Given the description of an element on the screen output the (x, y) to click on. 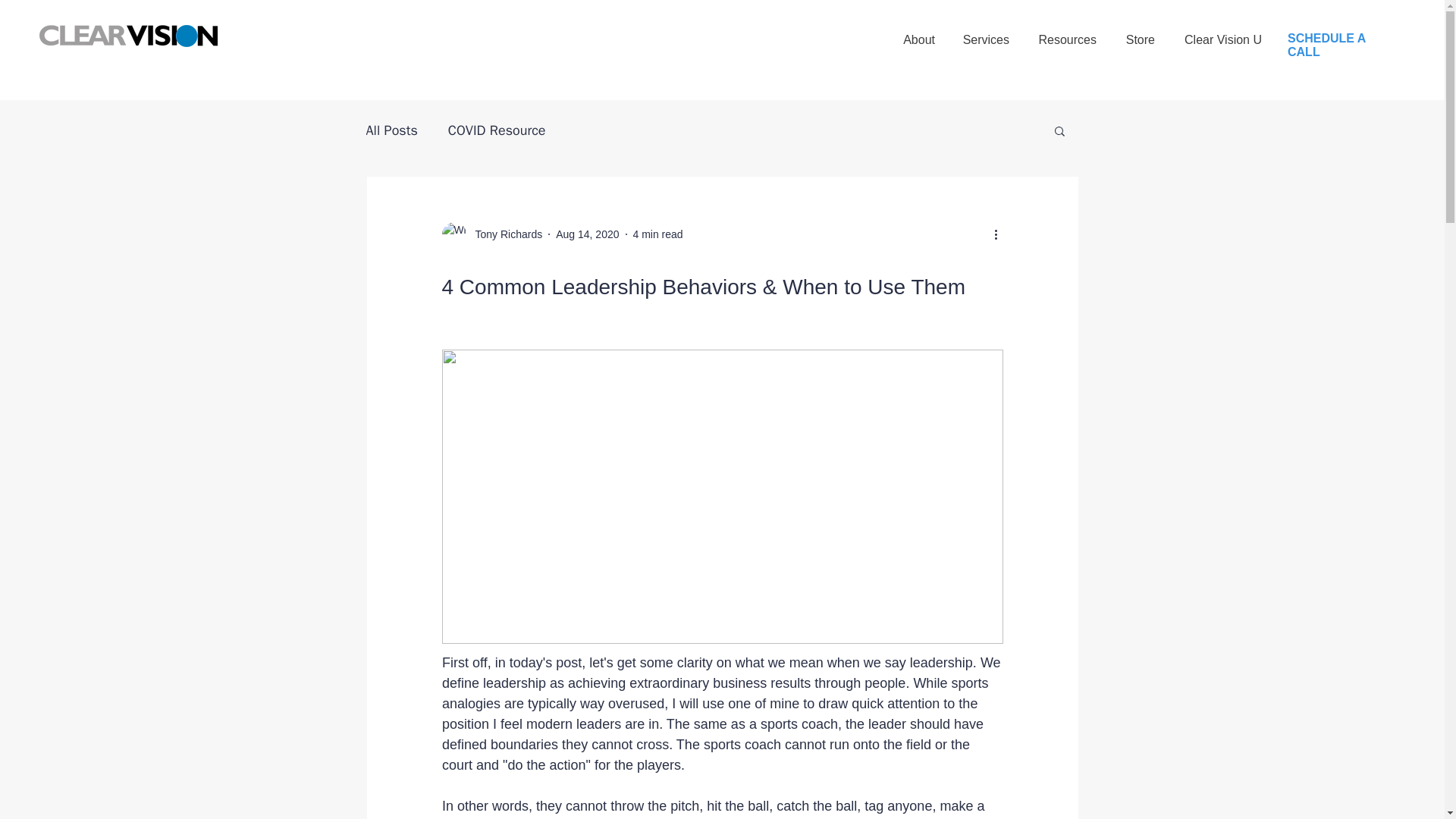
Store (1139, 32)
Clear Vision U (1222, 32)
About (917, 32)
4 min read (656, 233)
Tony Richards (503, 233)
Resources (1066, 32)
All Posts (390, 130)
SCHEDULE A CALL (1326, 44)
Services (986, 32)
Aug 14, 2020 (587, 233)
COVID Resource (497, 130)
